Given the description of an element on the screen output the (x, y) to click on. 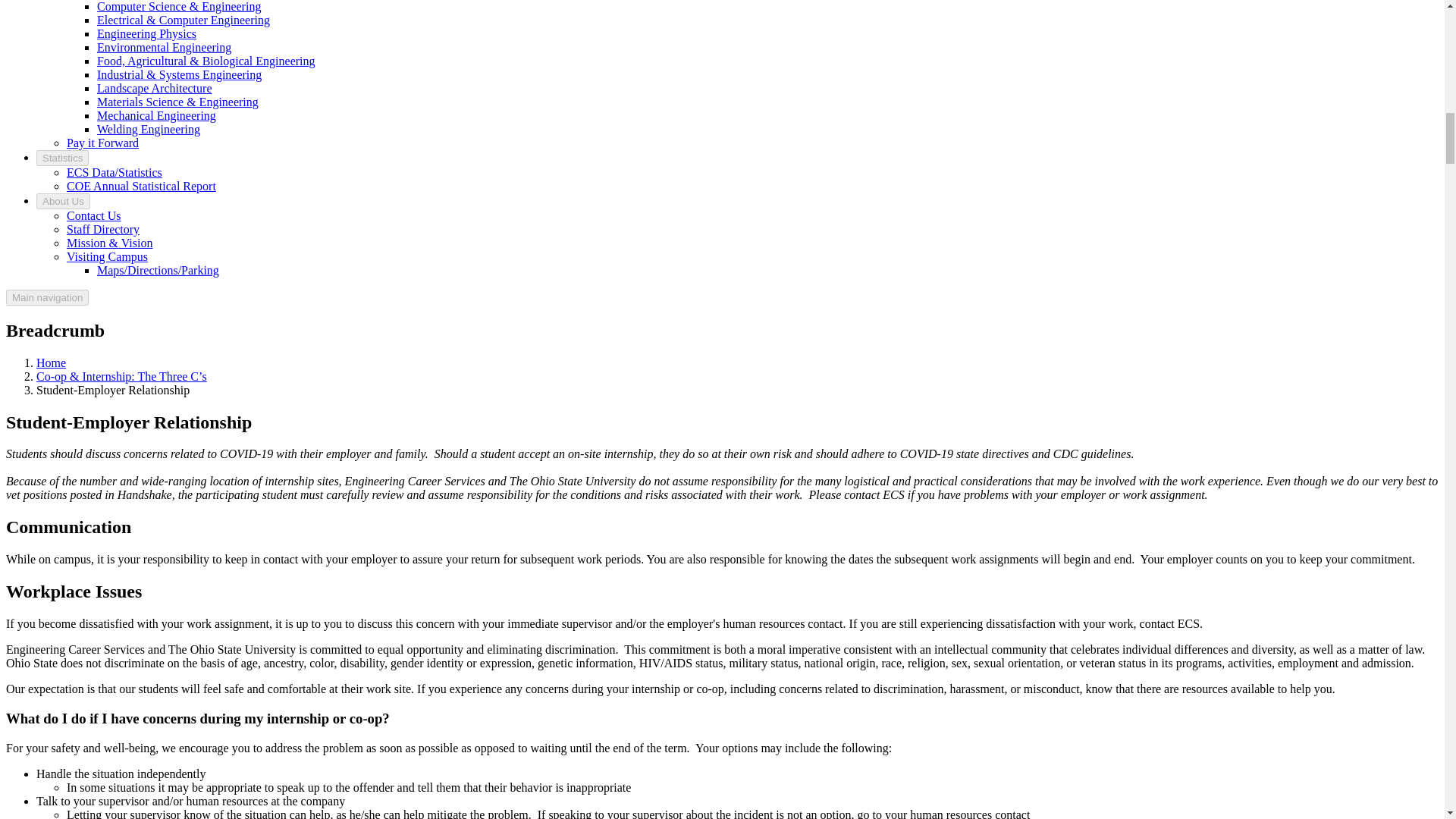
ECS Staff Directory (102, 228)
